Given the description of an element on the screen output the (x, y) to click on. 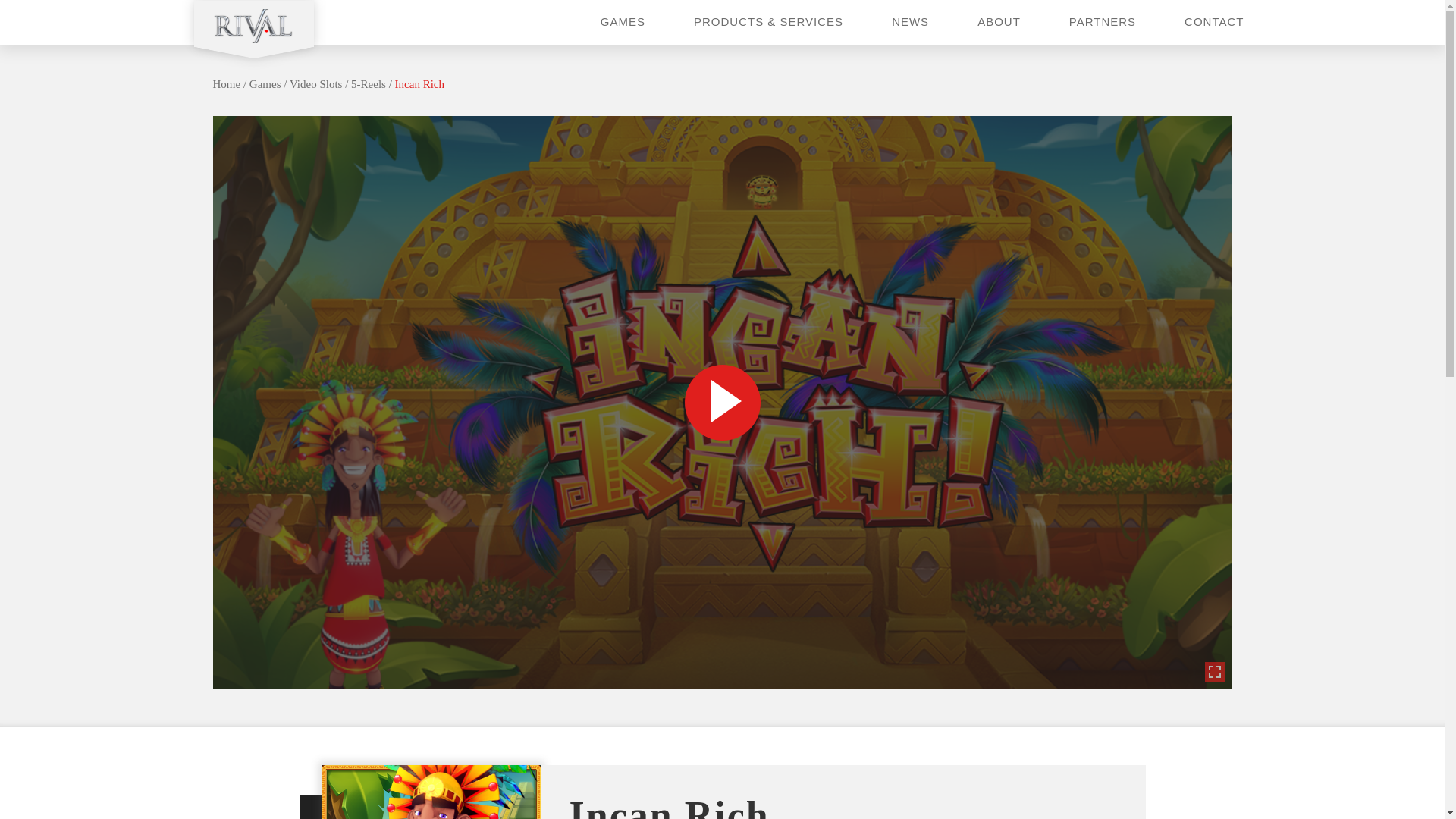
Play (722, 401)
GAMES (622, 21)
5-Reels (367, 83)
ABOUT (998, 21)
Rival Powered (253, 38)
Games (264, 83)
Go to Games. (264, 83)
Go to the Video Slots Game Category archives. (315, 83)
Video Slots (315, 83)
CONTACT (1213, 21)
Go to Rival Powered. (226, 83)
Go to the 5-Reels Game Category archives. (367, 83)
NEWS (909, 21)
Home (226, 83)
PARTNERS (1101, 21)
